Given the description of an element on the screen output the (x, y) to click on. 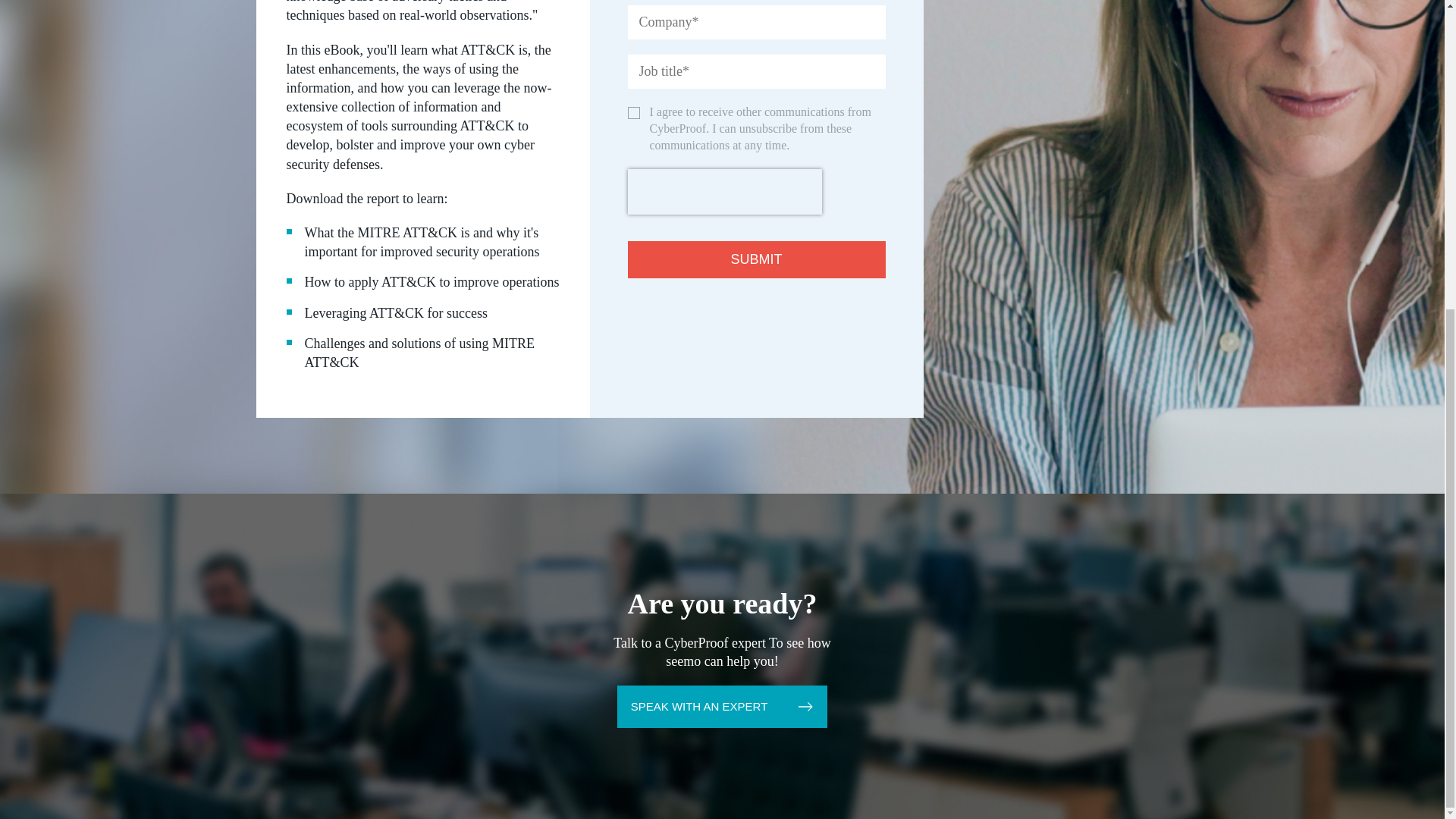
SPEAK WITH AN EXPERT (722, 706)
reCAPTCHA (724, 191)
SUBMIT (756, 259)
SUBMIT (756, 259)
speak with an expert (722, 706)
